Given the description of an element on the screen output the (x, y) to click on. 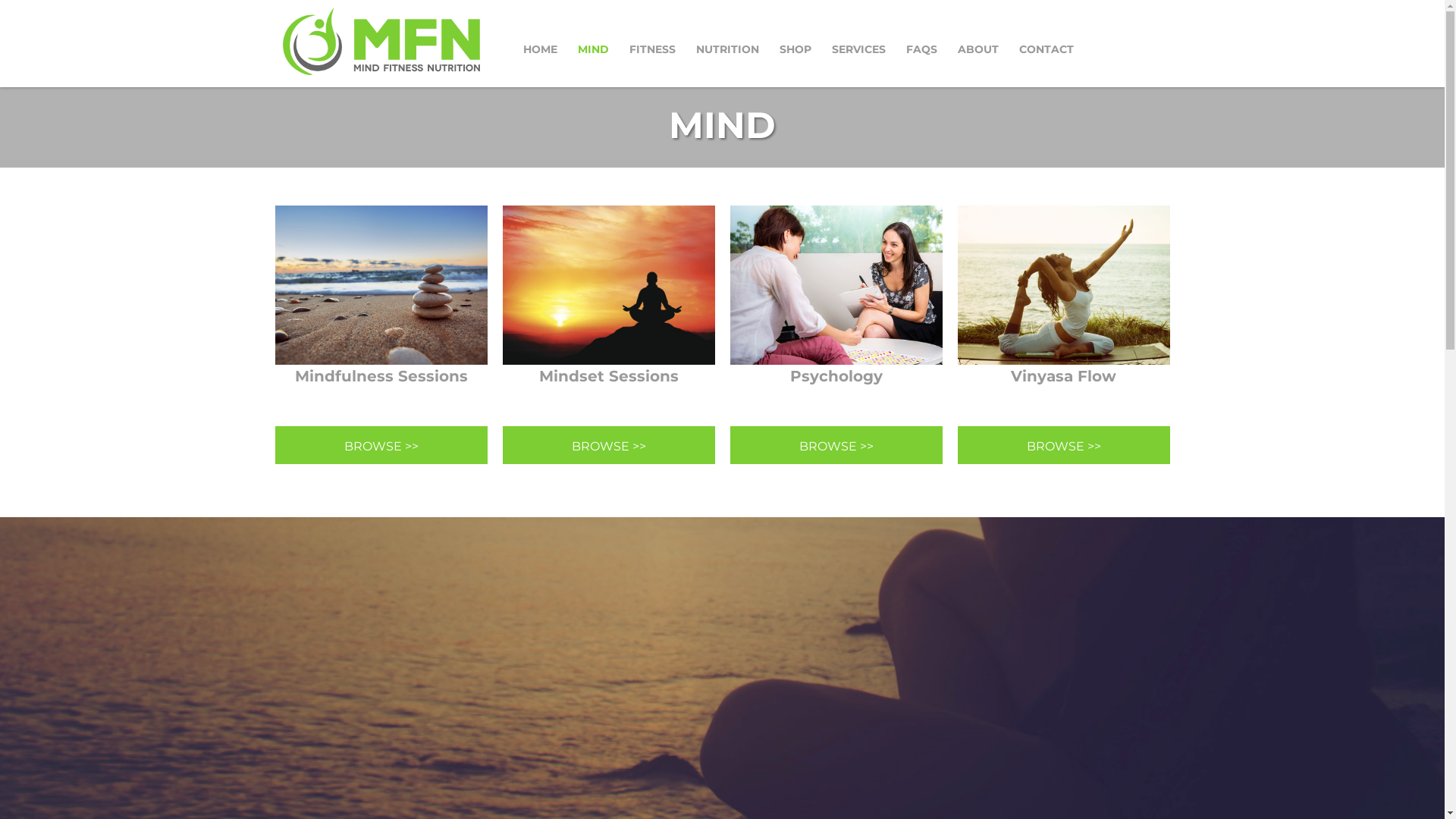
SERVICES Element type: text (858, 48)
Cart Element type: hover (1166, 41)
Vinyasa Flow Element type: hover (1063, 284)
Psychology Element type: hover (835, 284)
FITNESS Element type: text (652, 48)
Psychology Element type: text (835, 307)
Mindset Sessions Element type: text (608, 307)
BROWSE >> Element type: text (835, 445)
SHOP Element type: text (795, 48)
ABOUT Element type: text (977, 48)
MIND Element type: text (592, 48)
NUTRITION Element type: text (727, 48)
Mindset Sessions Element type: hover (608, 284)
CONTACT Element type: text (1046, 48)
Mindfulness Sessions Element type: hover (380, 284)
HOME Element type: text (540, 48)
Vinyasa Flow Element type: text (1063, 307)
BROWSE >> Element type: text (380, 445)
FAQS Element type: text (921, 48)
BROWSE >> Element type: text (608, 445)
Mindfulness Sessions Element type: text (380, 307)
BROWSE >> Element type: text (1063, 445)
